Given the description of an element on the screen output the (x, y) to click on. 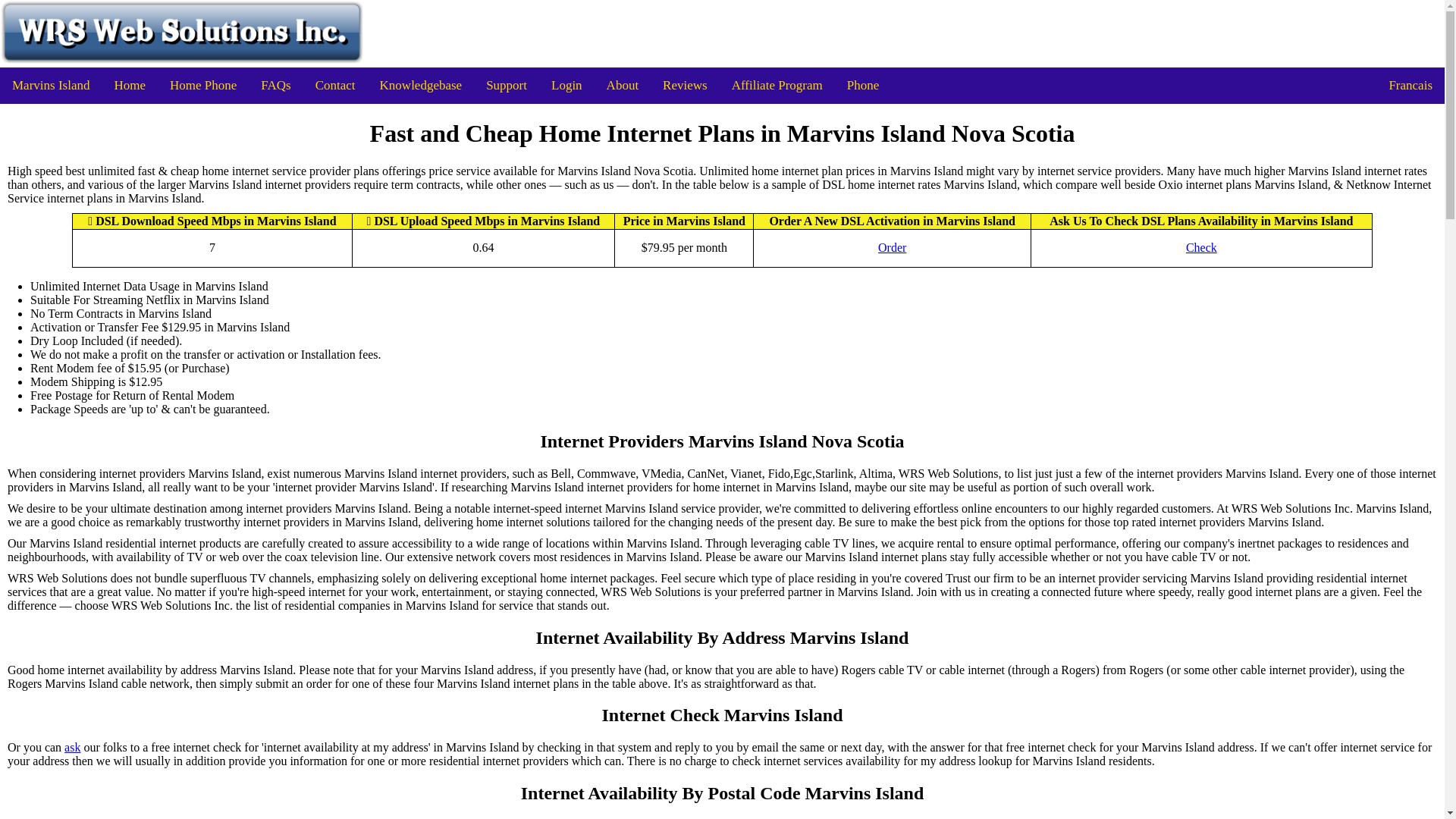
About (622, 85)
Knowledgebase (421, 85)
Phone (862, 85)
Affiliate Program (776, 85)
Contact (335, 85)
FAQs (275, 85)
Home Phone (202, 85)
Home (129, 85)
ask (72, 747)
Support (506, 85)
